Given the description of an element on the screen output the (x, y) to click on. 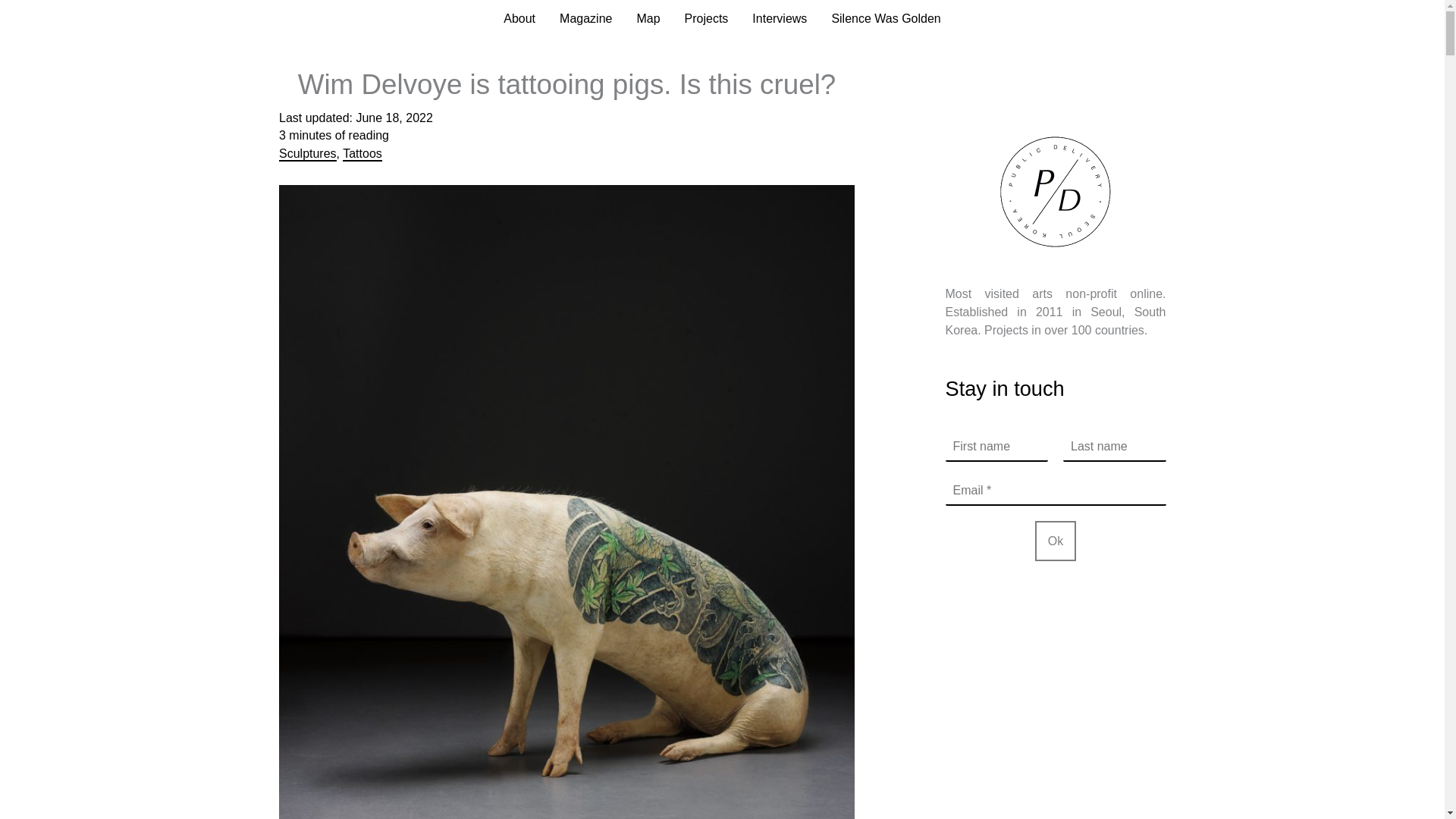
Sculptures (307, 154)
Map (647, 18)
Projects (706, 18)
About (519, 18)
Silence Was Golden (885, 18)
Interviews (778, 18)
Magazine (585, 18)
Public Delivery logo (1055, 191)
Tattoos (361, 154)
